Given the description of an element on the screen output the (x, y) to click on. 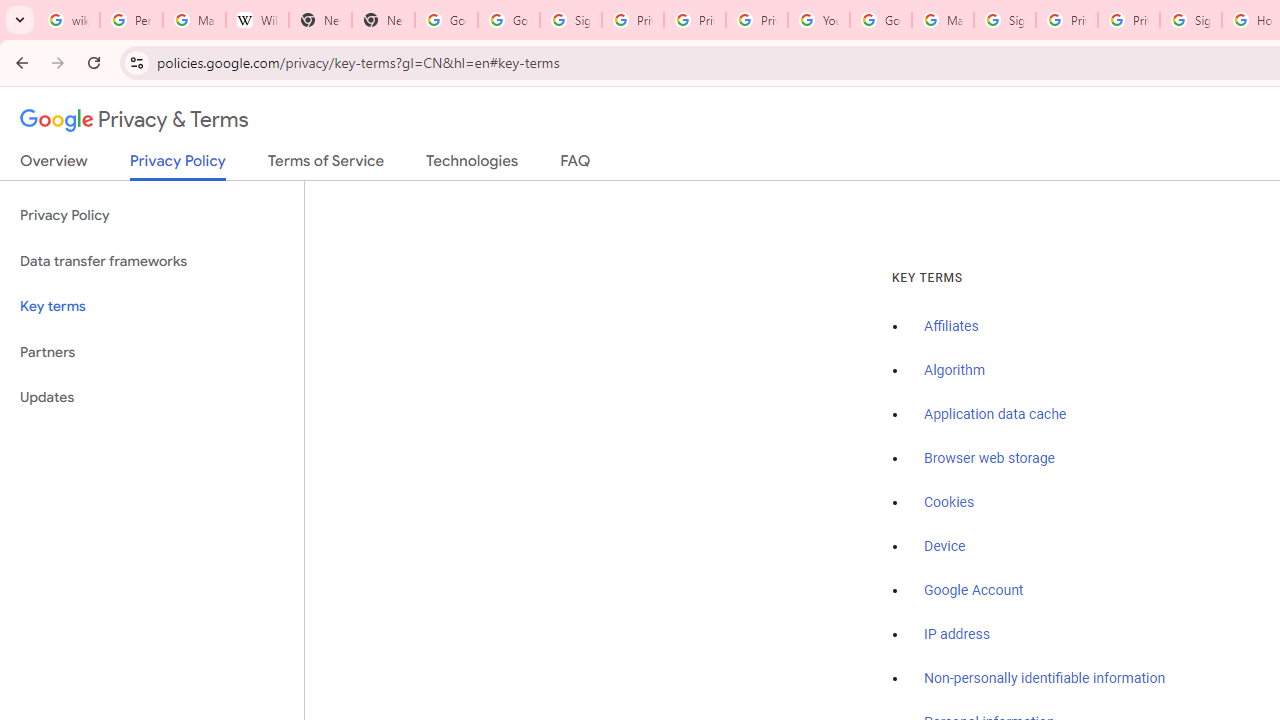
Sign in - Google Accounts (1190, 20)
Google Drive: Sign-in (508, 20)
Data transfer frameworks (152, 261)
Device (945, 546)
Privacy & Terms (134, 120)
Affiliates (951, 327)
IP address (956, 634)
Privacy Policy (152, 215)
Algorithm (954, 371)
